Given the description of an element on the screen output the (x, y) to click on. 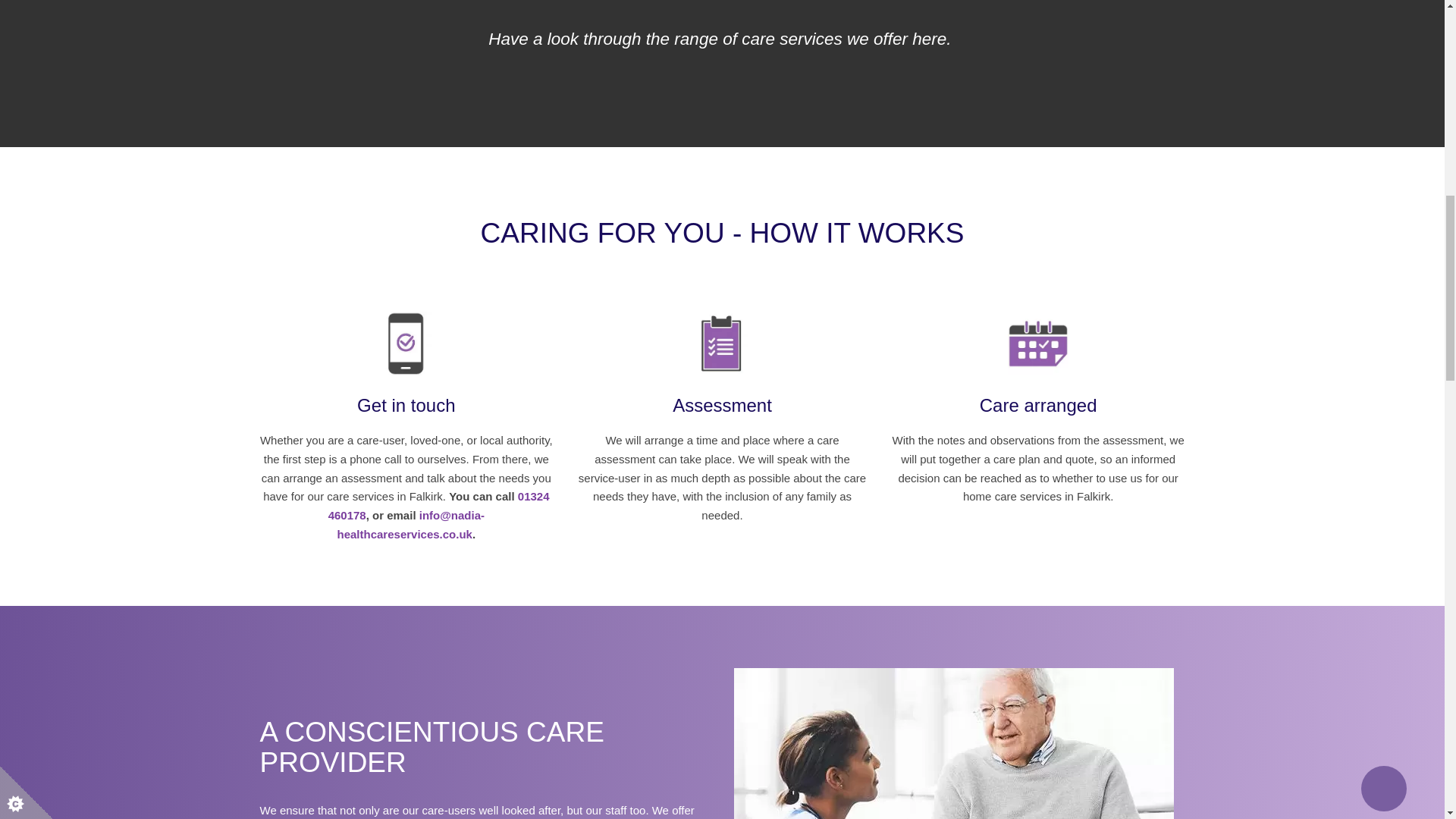
01324 460178 (439, 505)
